Given the description of an element on the screen output the (x, y) to click on. 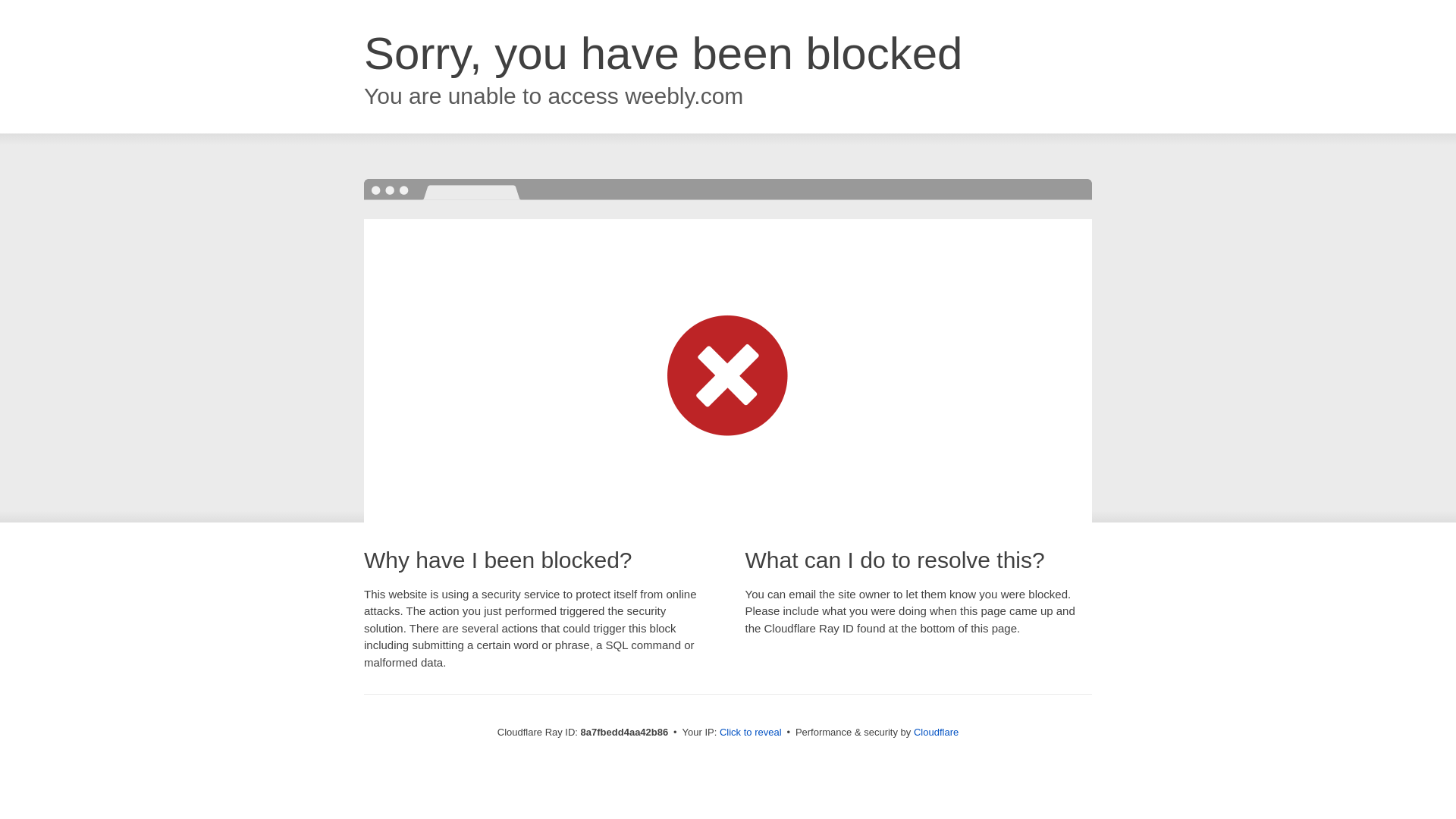
Cloudflare (936, 731)
Click to reveal (750, 732)
